Given the description of an element on the screen output the (x, y) to click on. 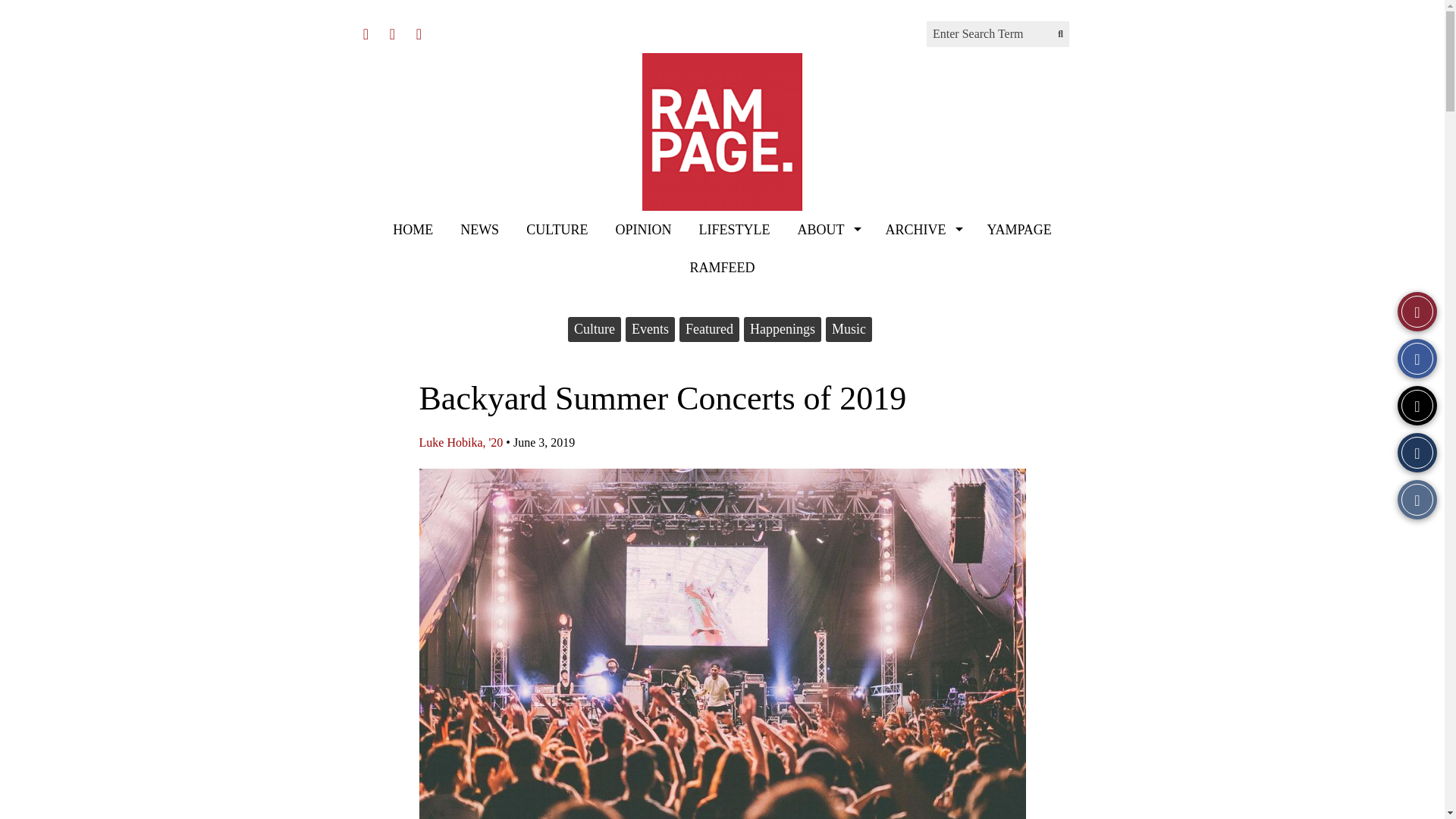
YAMPAGE (1018, 229)
LIFESTYLE (733, 229)
OPINION (642, 229)
ABOUT (826, 229)
NEWS (479, 229)
ARCHIVE (921, 229)
RAMFEED (721, 267)
HOME (412, 229)
CULTURE (556, 229)
